Given the description of an element on the screen output the (x, y) to click on. 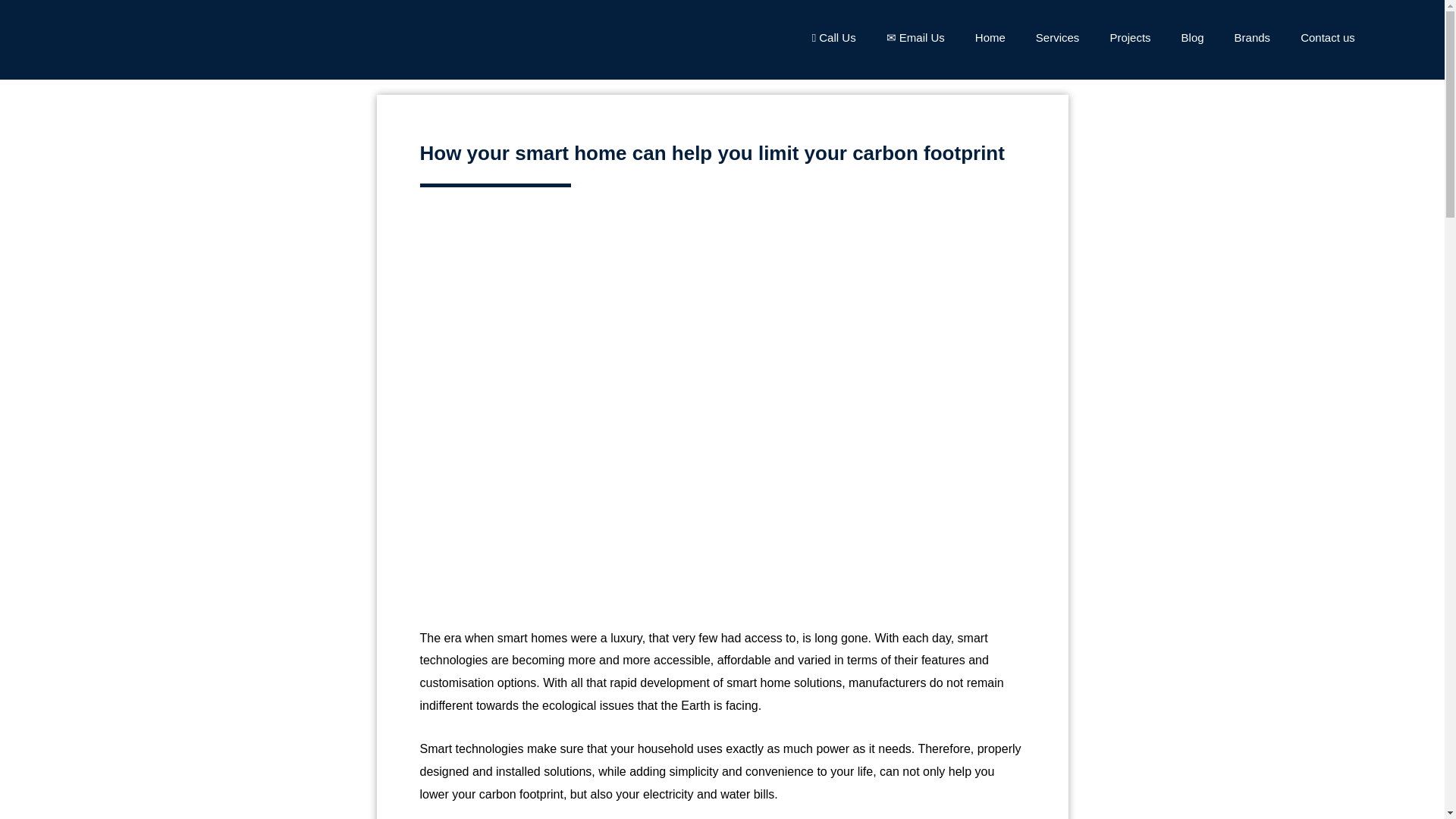
Home (989, 37)
Blog (1193, 37)
Contact us (1327, 37)
Brands (1252, 37)
Projects (1130, 37)
Services (1057, 37)
